Given the description of an element on the screen output the (x, y) to click on. 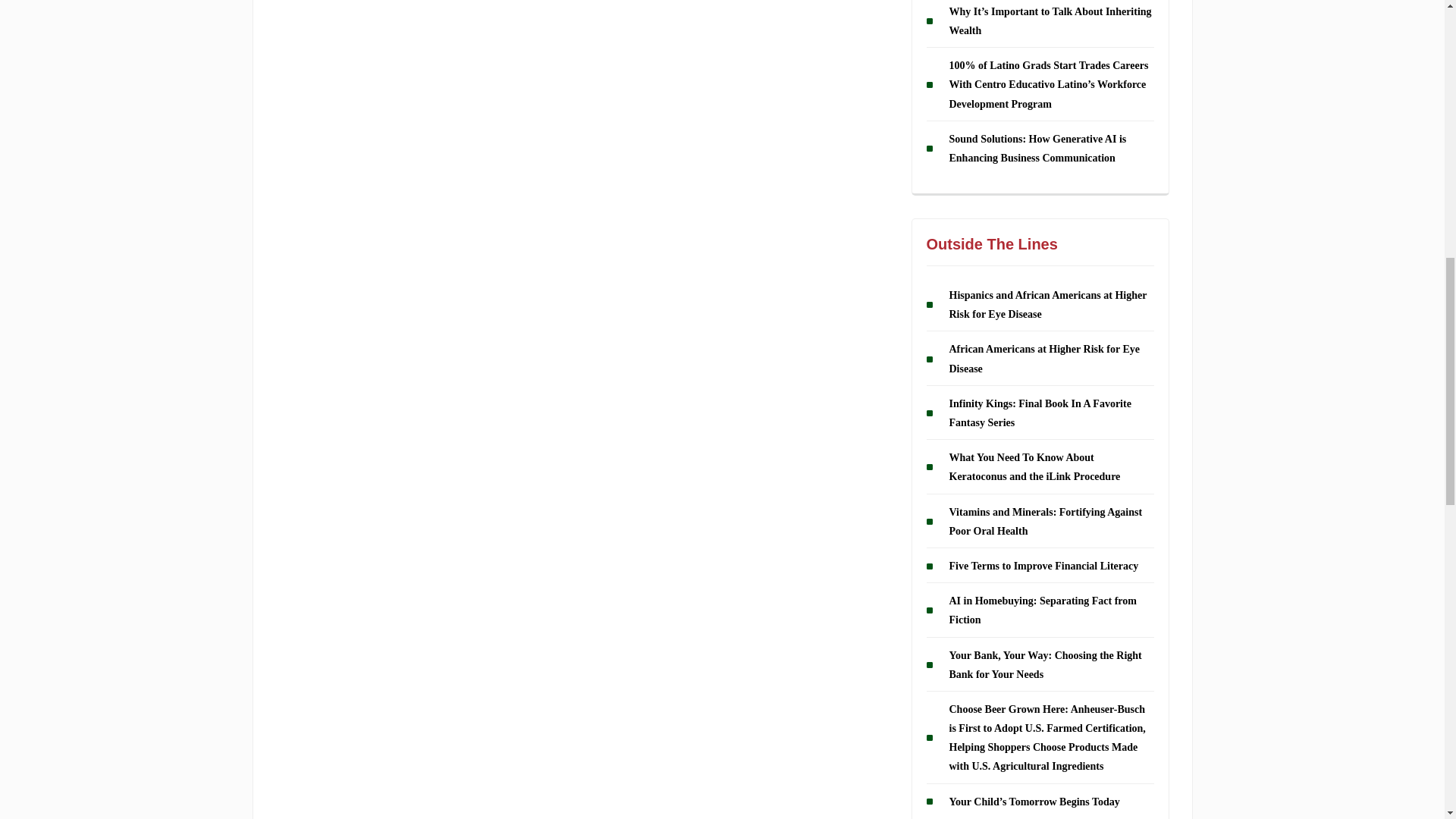
Vitamins and Minerals:  Fortifying Against Poor Oral Health (1045, 521)
Infinity Kings: Final Book In A Favorite Fantasy Series (1040, 413)
African Americans at Higher Risk for Eye Disease (1044, 358)
Vitamins and Minerals: Fortifying Against Poor Oral Health (1045, 521)
African Americans at Higher Risk for Eye Disease (1044, 358)
Infinity Kings: Final Book In A Favorite Fantasy Series (1040, 413)
